Given the description of an element on the screen output the (x, y) to click on. 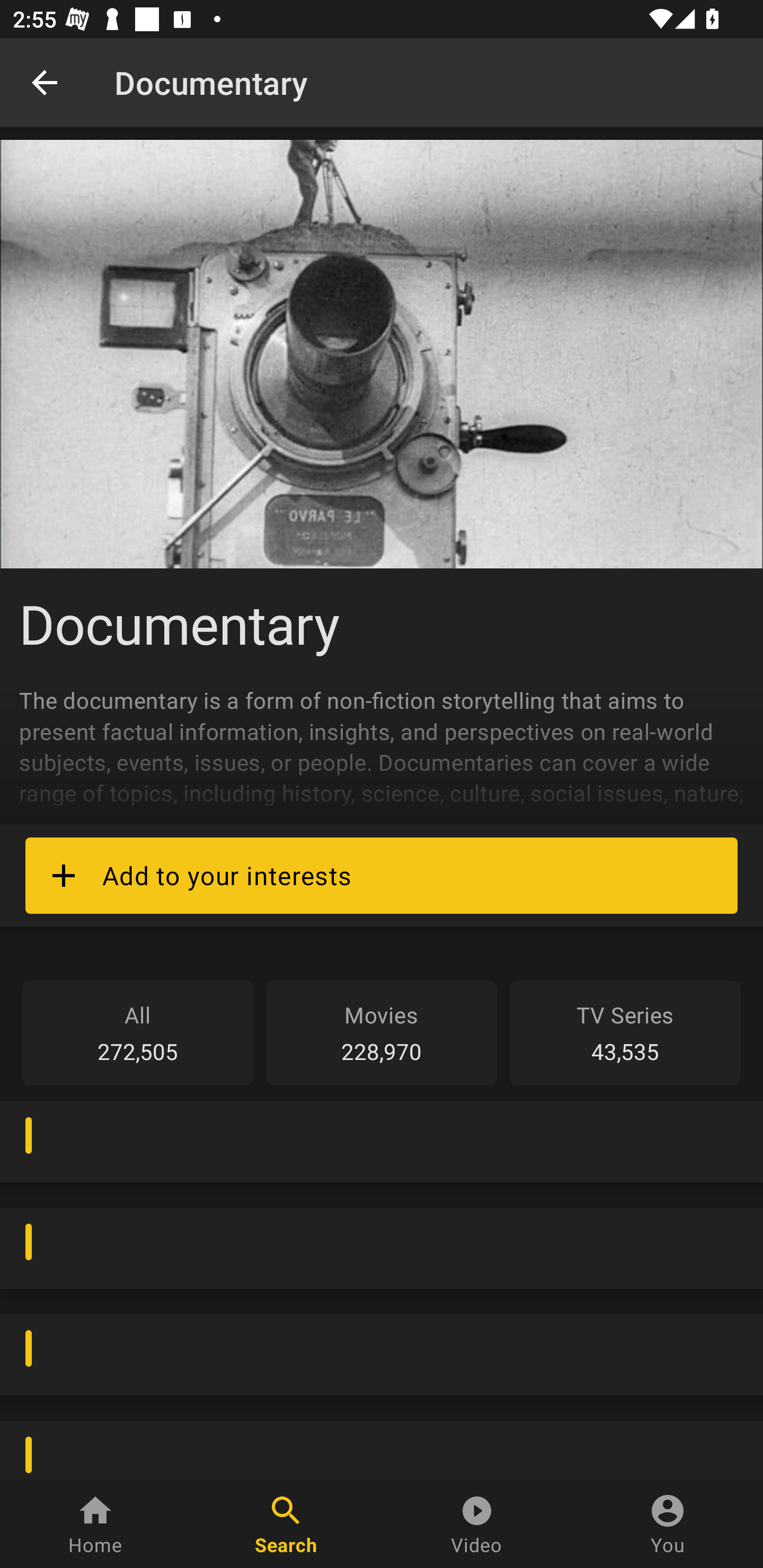
Add to your interests (381, 875)
All 272,505 (137, 1032)
Movies 228,970 (381, 1032)
TV Series 43,535 (624, 1032)
Home (95, 1523)
Video (476, 1523)
You (667, 1523)
